Given the description of an element on the screen output the (x, y) to click on. 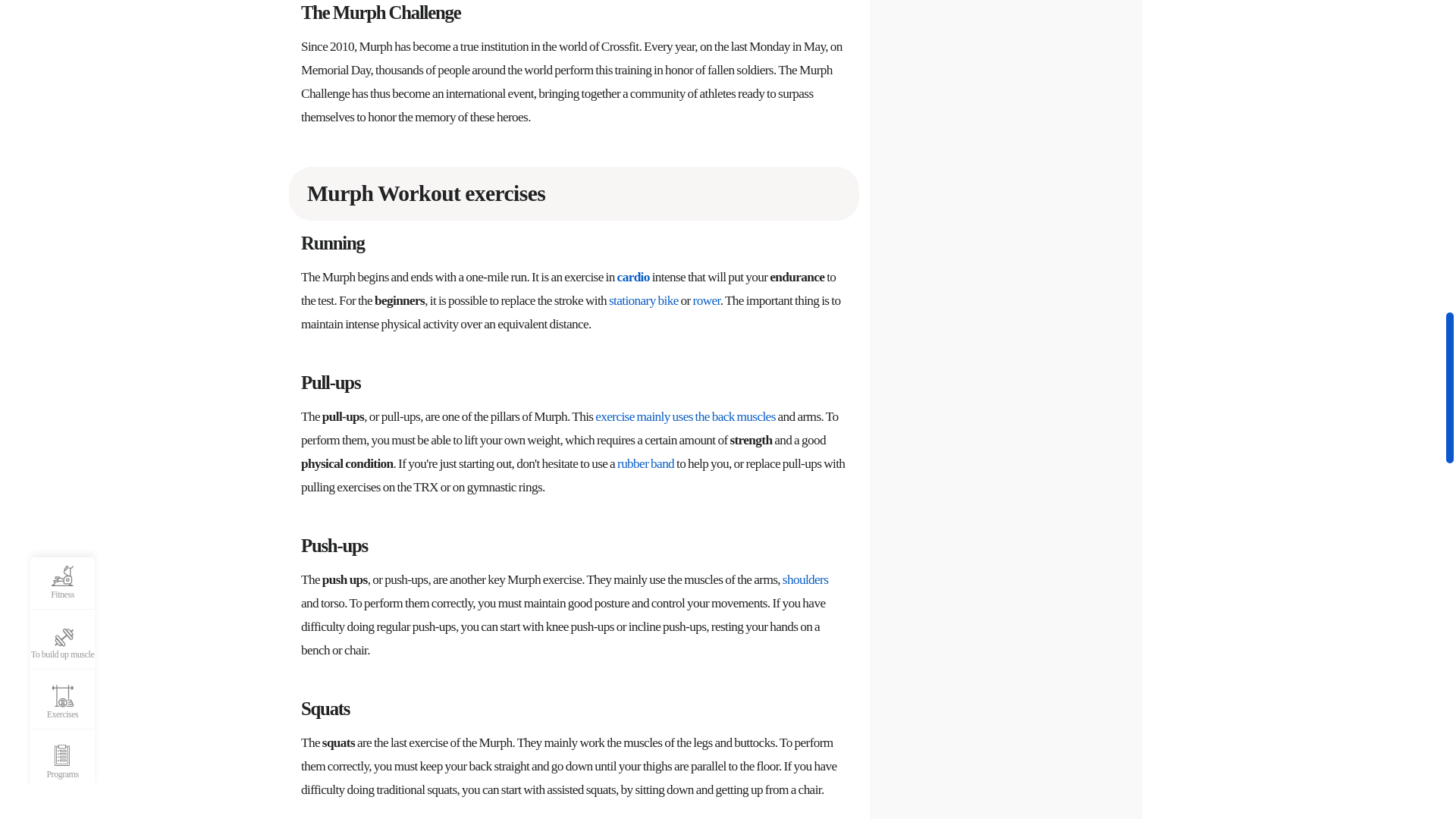
Training with an elastic band: interests and benefits (645, 463)
Spinning bike (643, 300)
Back exercises (684, 417)
What are the benefits of cardio exercises? (633, 277)
Shoulder exercises (805, 580)
Rower (706, 300)
